Given the description of an element on the screen output the (x, y) to click on. 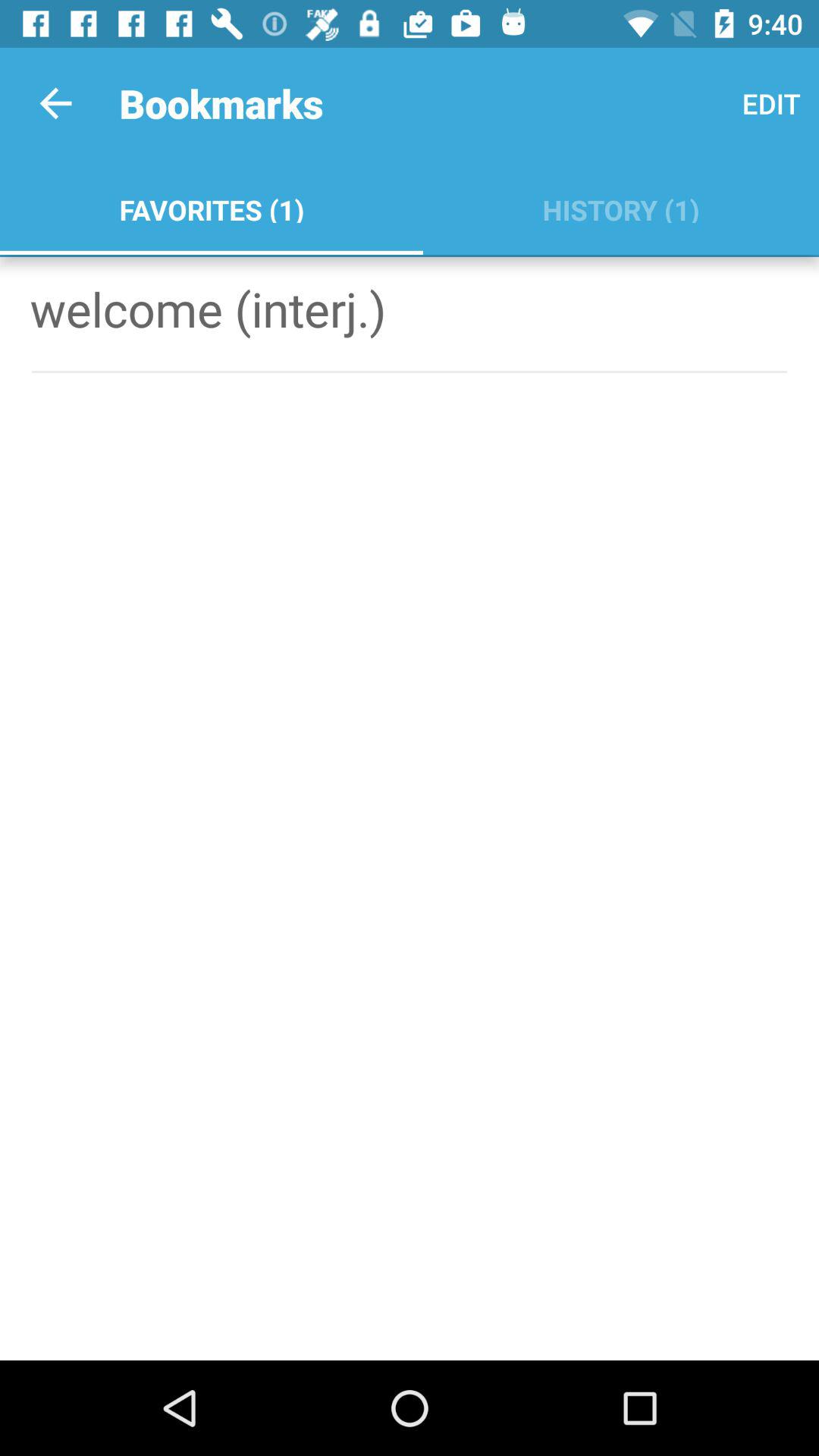
click the icon next to the bookmarks item (55, 103)
